Given the description of an element on the screen output the (x, y) to click on. 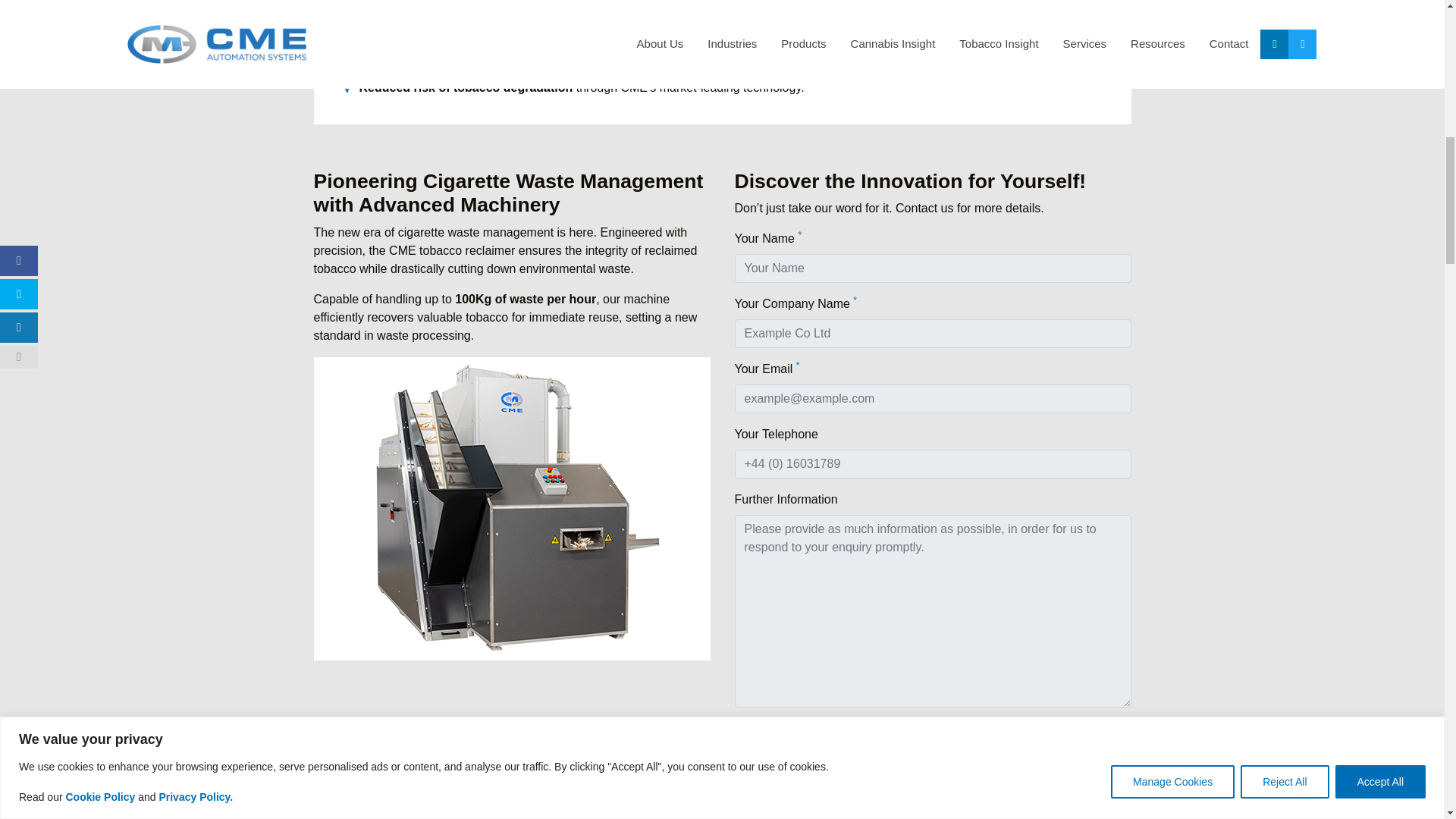
Enquire (763, 734)
